Given the description of an element on the screen output the (x, y) to click on. 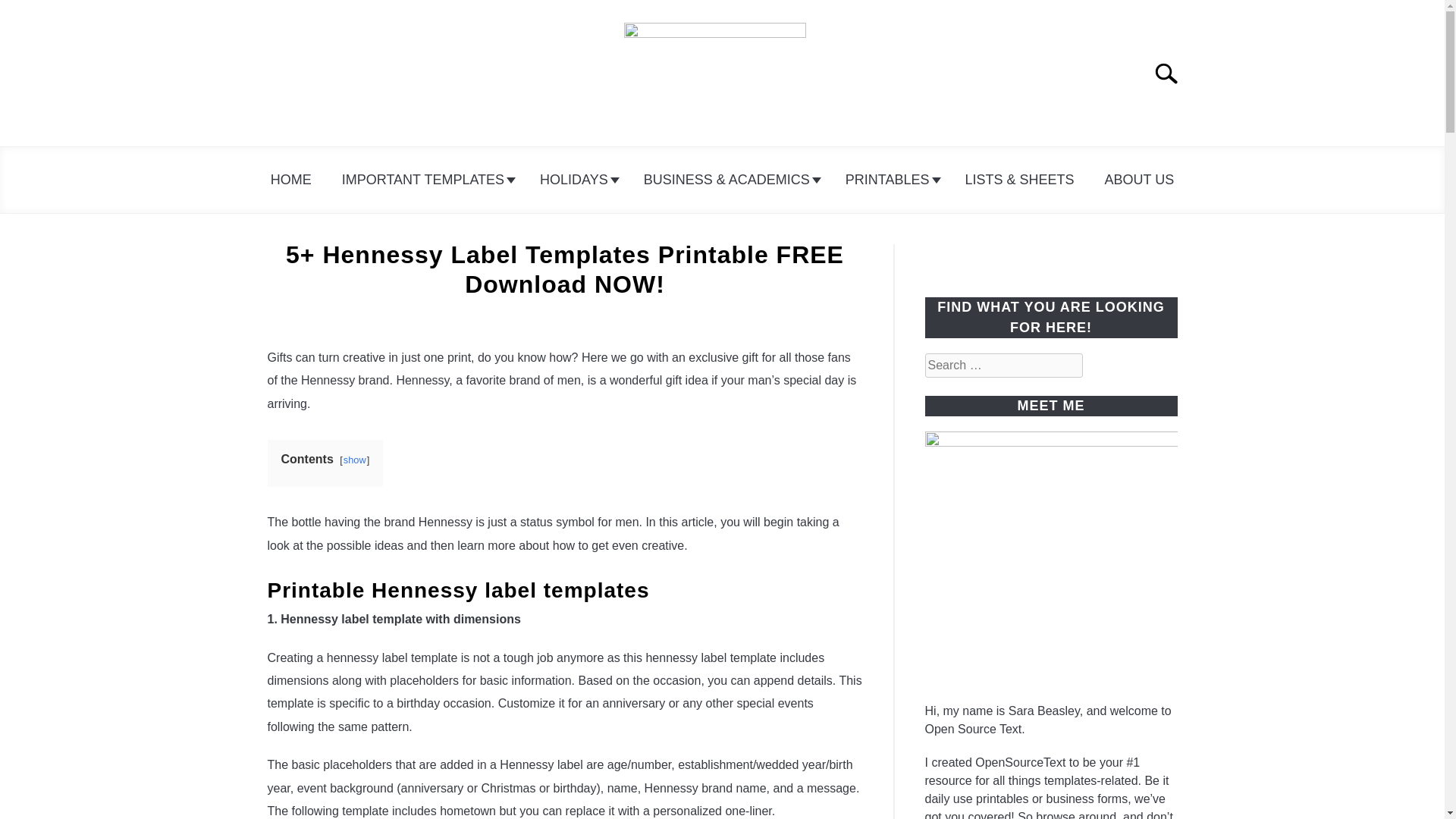
PRINTABLES (889, 180)
IMPORTANT TEMPLATES (425, 180)
show (354, 460)
HOME (291, 180)
Search (1172, 72)
HOLIDAYS (576, 180)
ABOUT US (1139, 180)
